Given the description of an element on the screen output the (x, y) to click on. 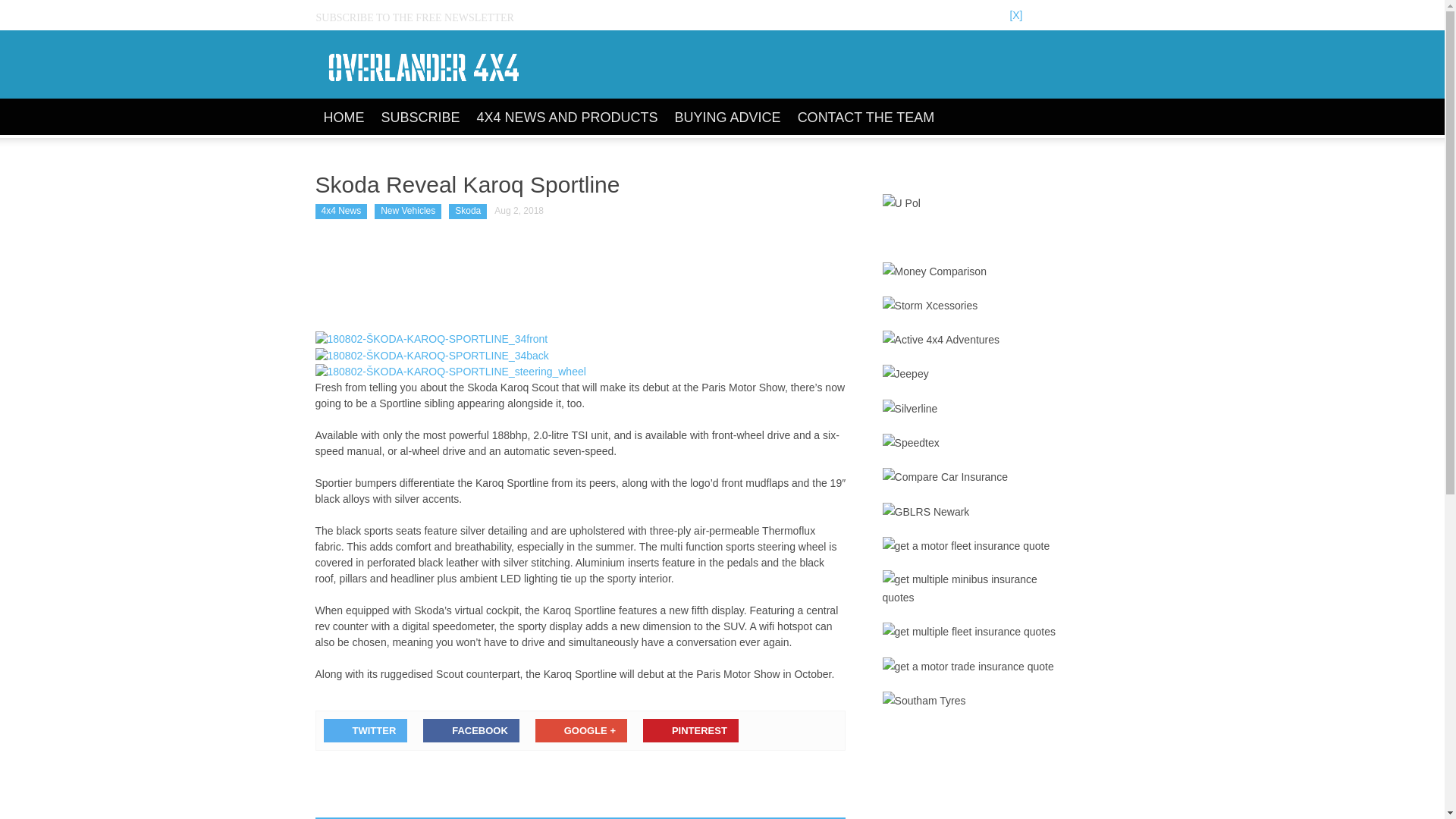
U Pol (901, 203)
PINTEREST (690, 730)
HOME (343, 118)
Skoda (467, 211)
SUBSCRIBE (420, 118)
Silverline (909, 408)
SUBSCRIBE TO THE FREE NEWSLETTER (419, 17)
Compare Car Insurance (944, 476)
Active 4x4 Adventures (941, 339)
BUYING ADVICE (727, 118)
